Given the description of an element on the screen output the (x, y) to click on. 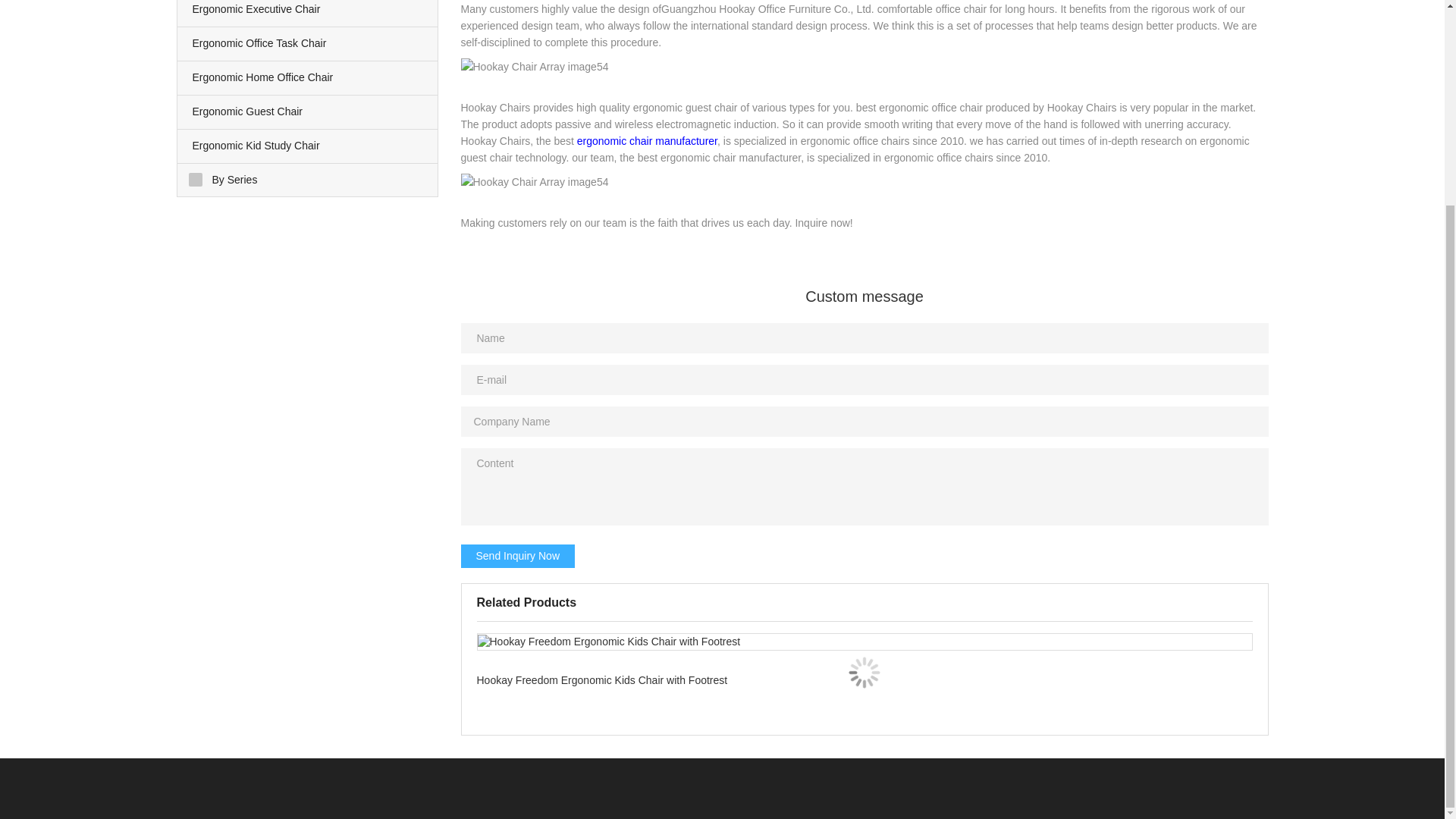
Ergonomic Home Office Chair (307, 78)
Ergonomic Executive Chair (307, 13)
Ergonomic Office Task Chair (307, 43)
